Given the description of an element on the screen output the (x, y) to click on. 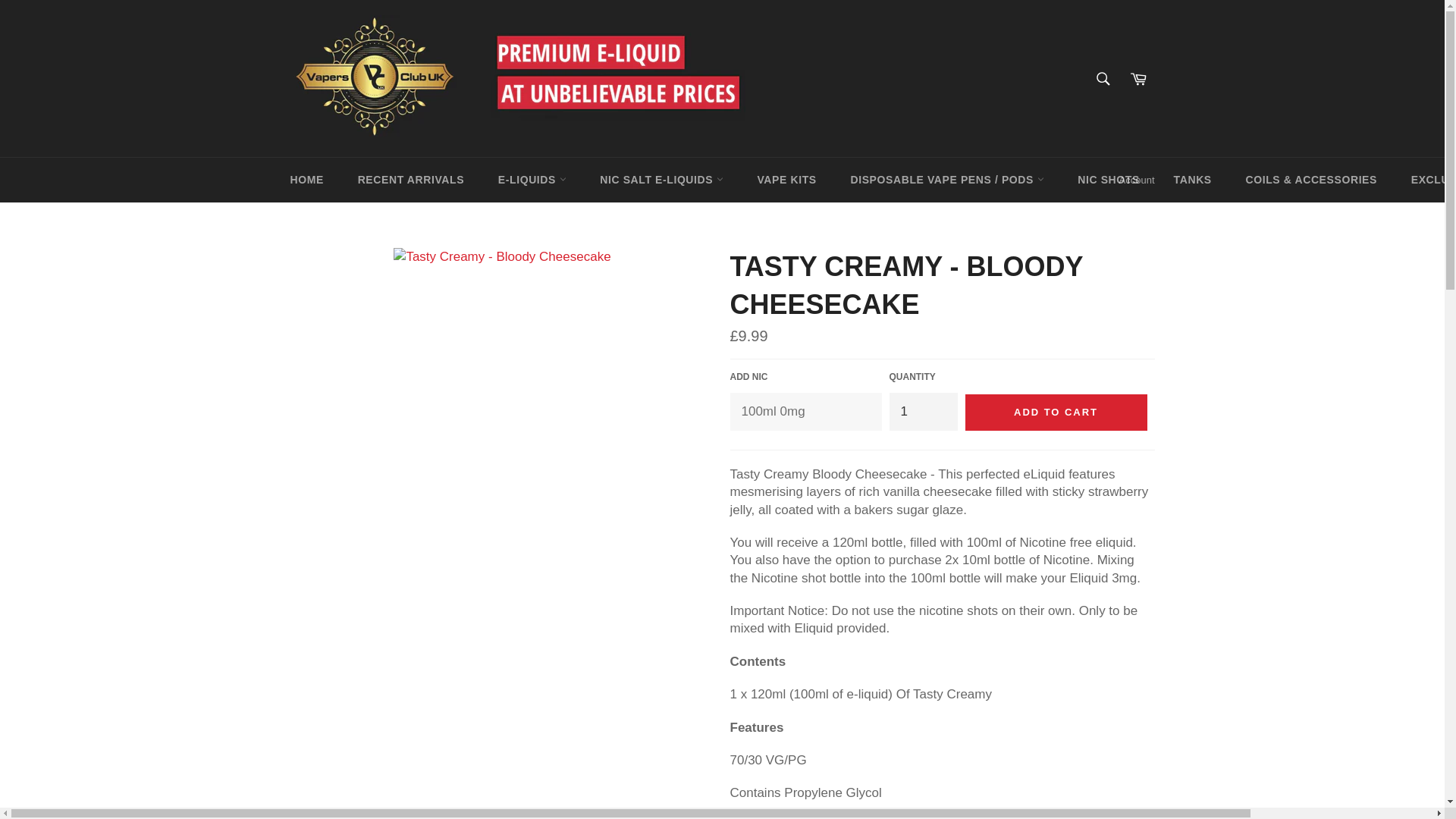
1 (922, 411)
